Given the description of an element on the screen output the (x, y) to click on. 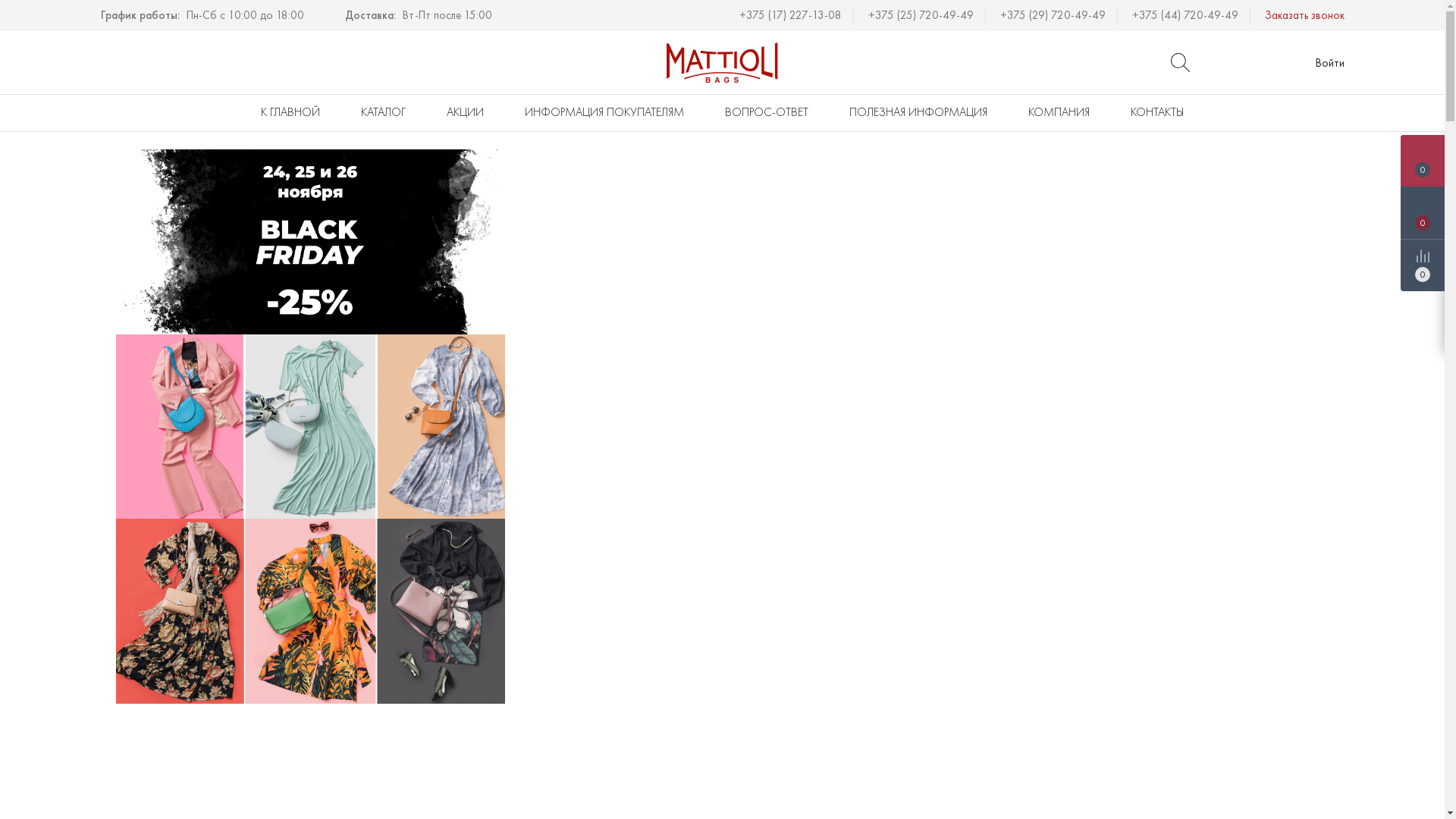
+375 (29) 720-49-49 Element type: text (1057, 15)
+375 (44) 720-49-49 Element type: text (1189, 15)
+375 (25) 720-49-49 Element type: text (925, 15)
+375 (17) 227-13-08 Element type: text (795, 15)
